Given the description of an element on the screen output the (x, y) to click on. 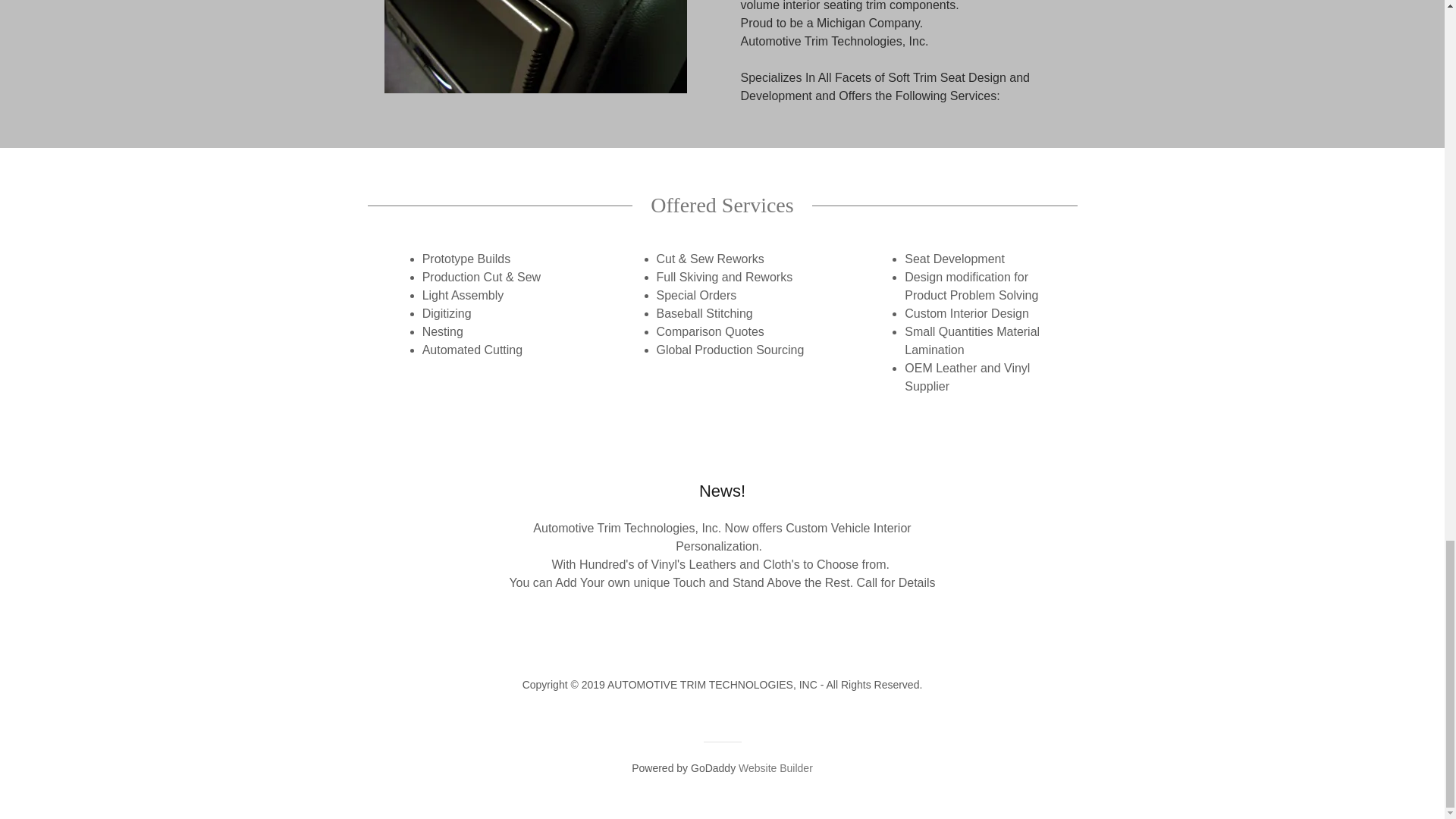
Website Builder (775, 767)
